Given the description of an element on the screen output the (x, y) to click on. 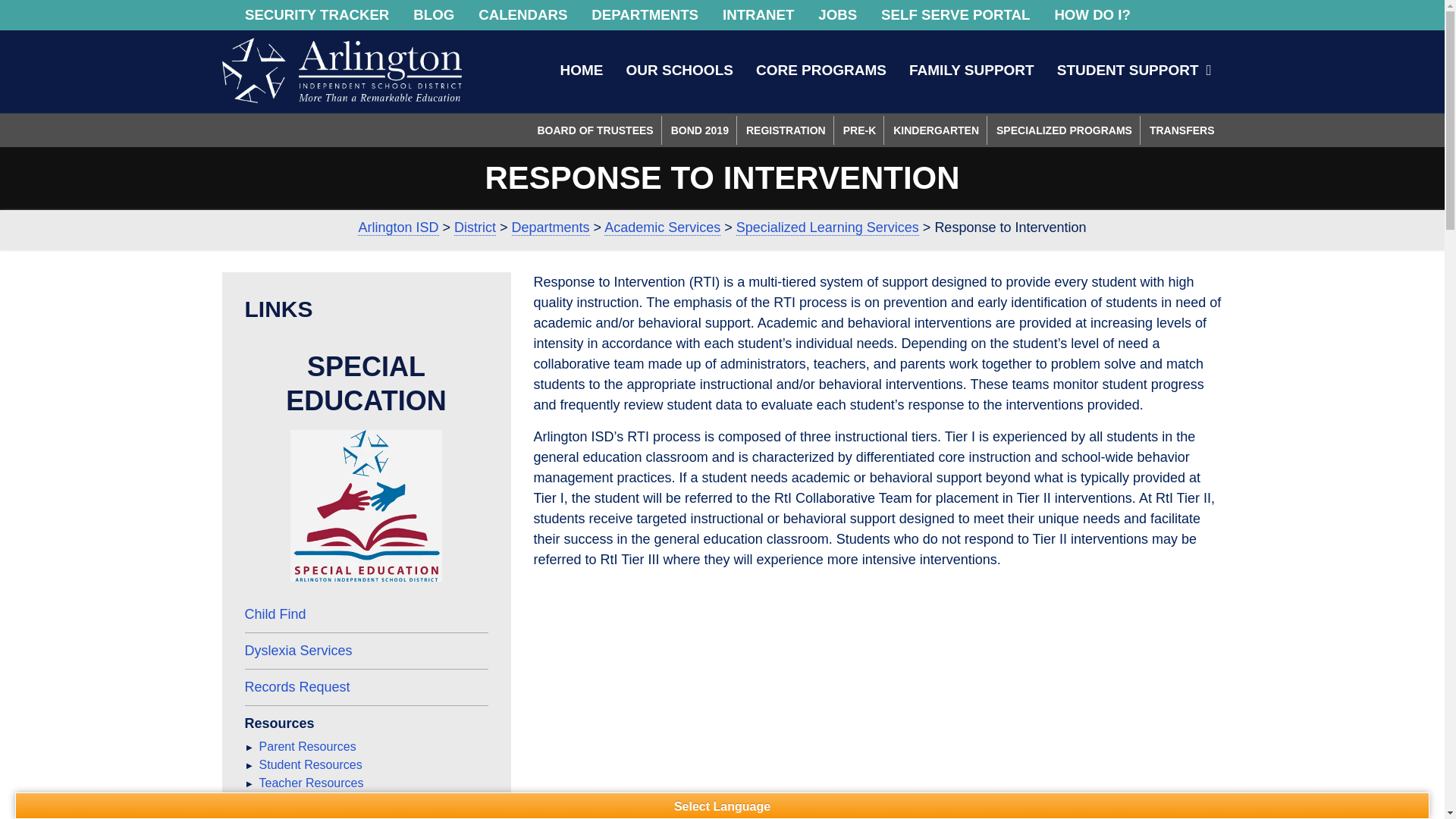
REGISTRATION (785, 130)
Go to Academic Services. (662, 227)
Return to the Arlington Independent School District Homepage (341, 69)
BLOG (433, 15)
SPECIALIZED PROGRAMS (1064, 130)
PRE-K (859, 130)
HOME (581, 69)
Go to Departments. (550, 227)
Go to District. (475, 227)
Go to Arlington ISD. (398, 227)
SECURITY TRACKER (316, 15)
INTRANET (758, 15)
TRANSFERS (1182, 130)
Go to Specialized Learning Services. (827, 227)
FAMILY SUPPORT (971, 69)
